Given the description of an element on the screen output the (x, y) to click on. 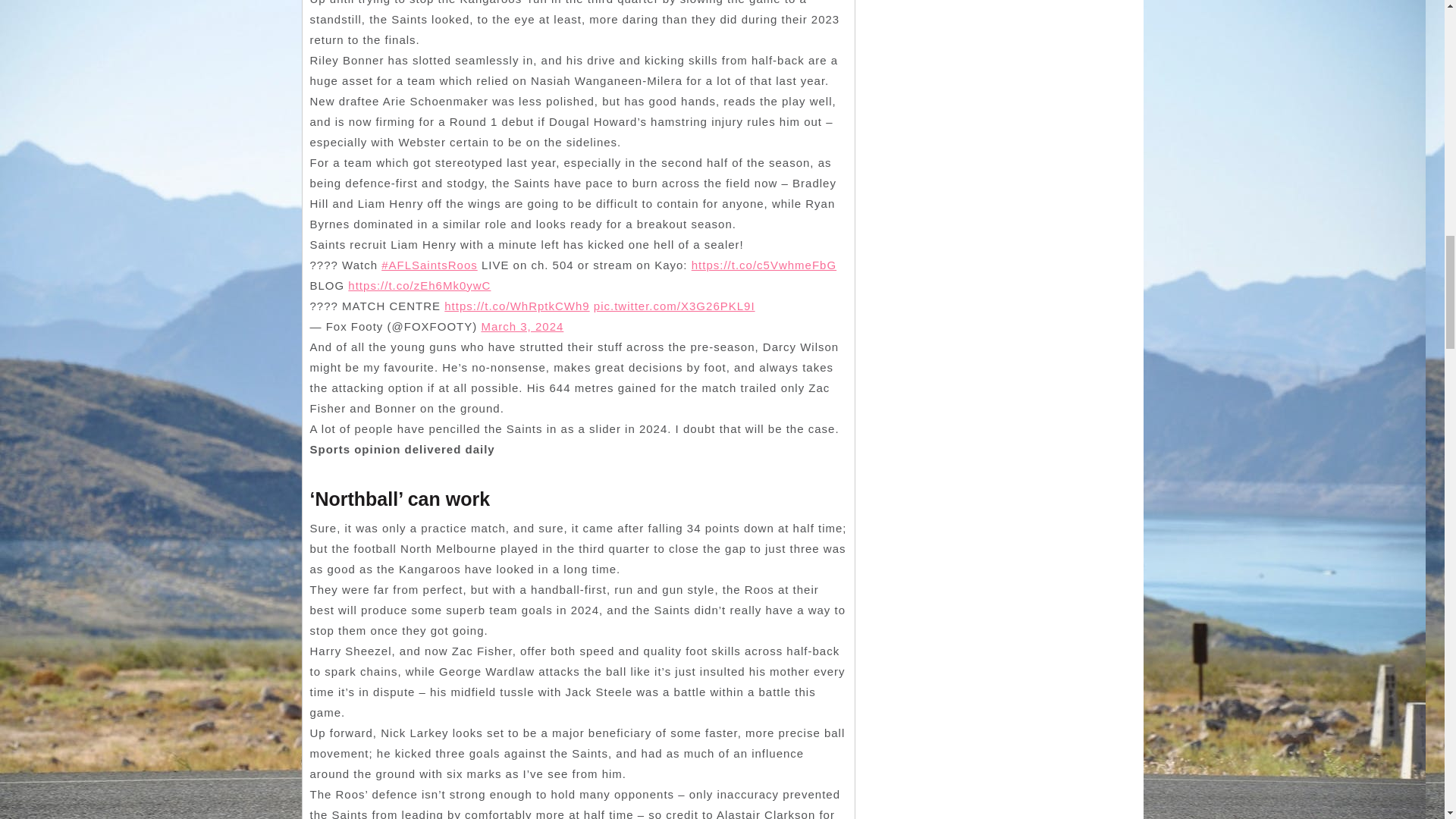
March 3, 2024 (521, 326)
